Given the description of an element on the screen output the (x, y) to click on. 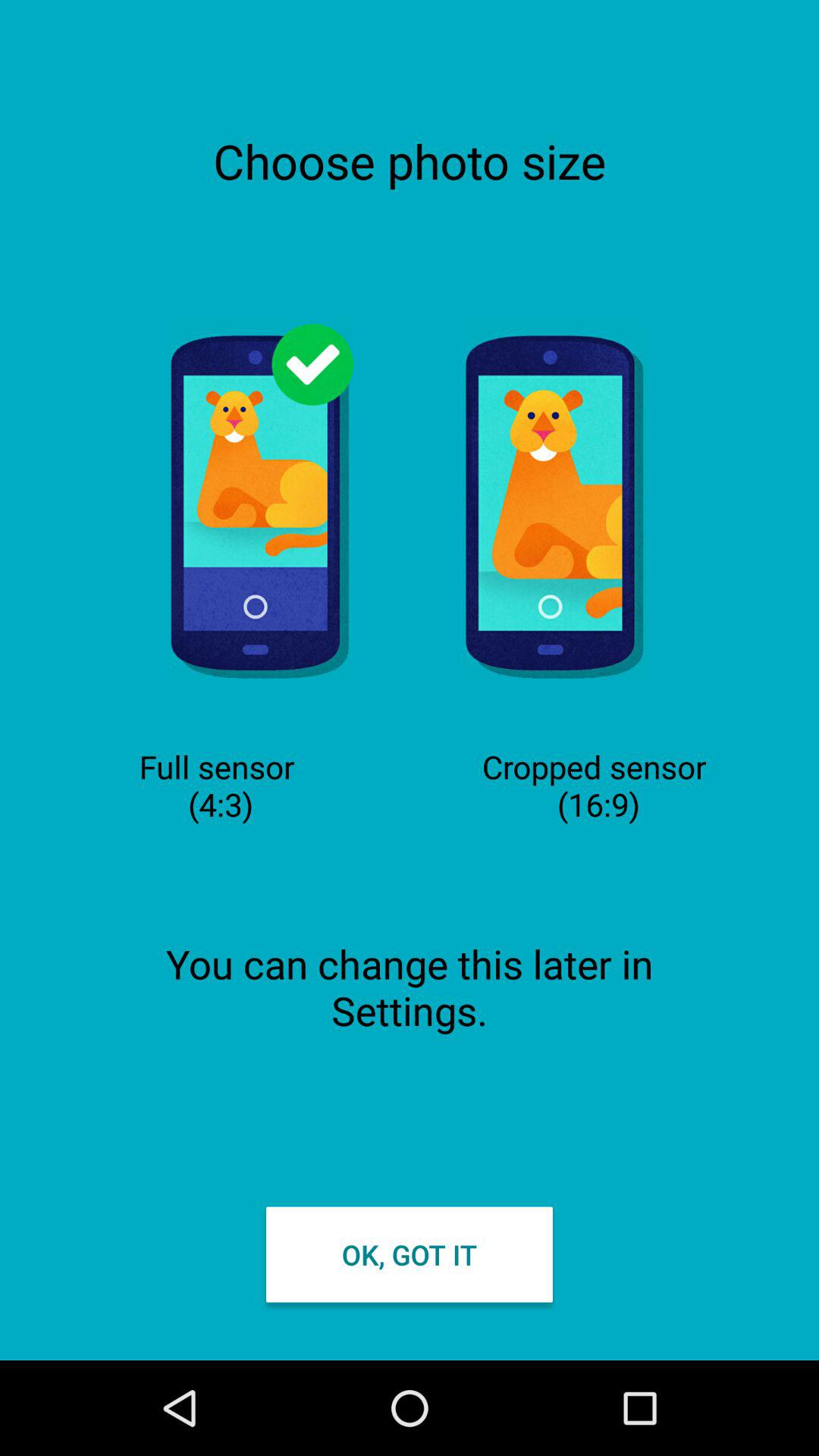
open app below the you can change app (409, 1254)
